Given the description of an element on the screen output the (x, y) to click on. 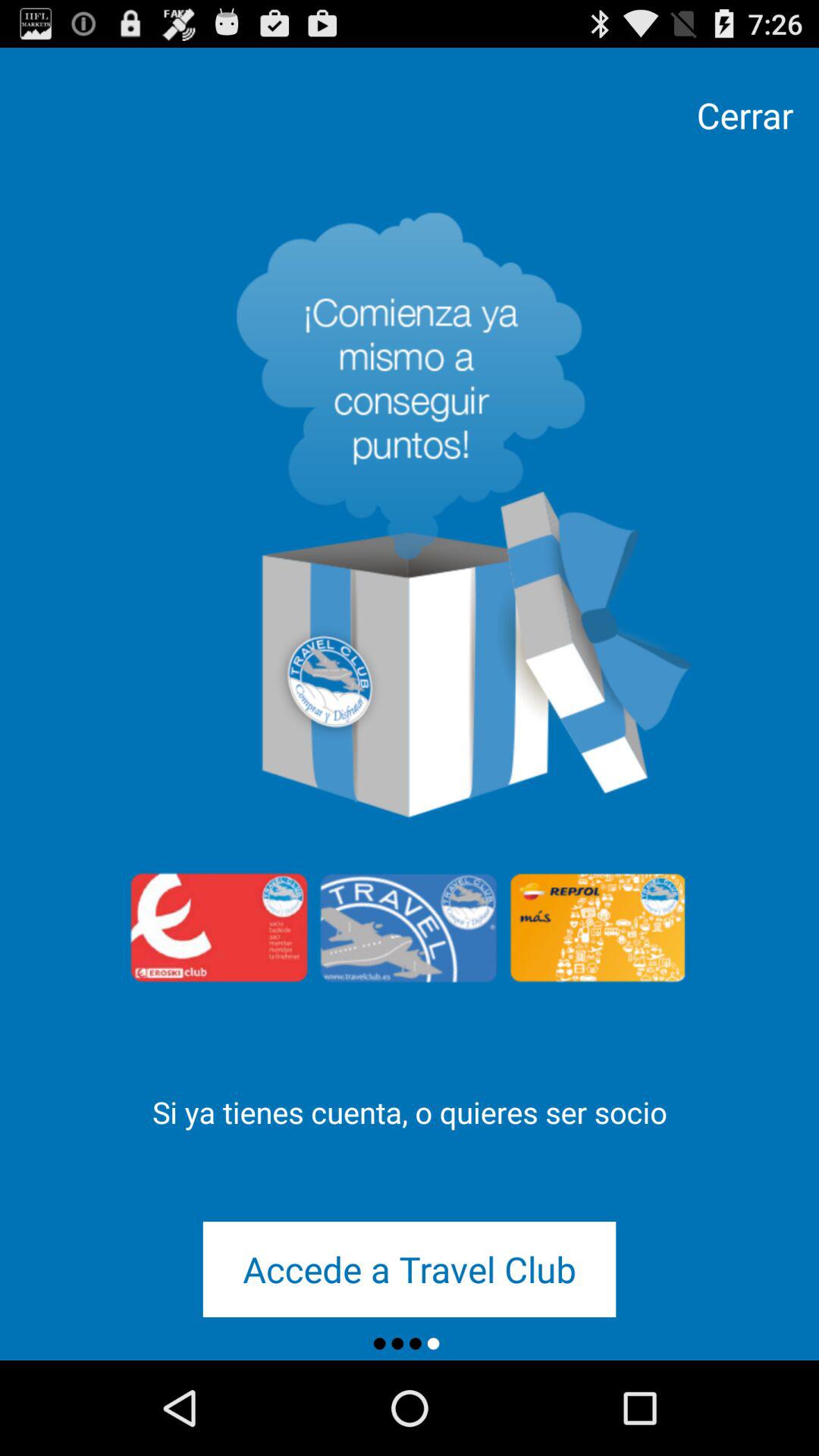
press the cerrar button (744, 115)
